Given the description of an element on the screen output the (x, y) to click on. 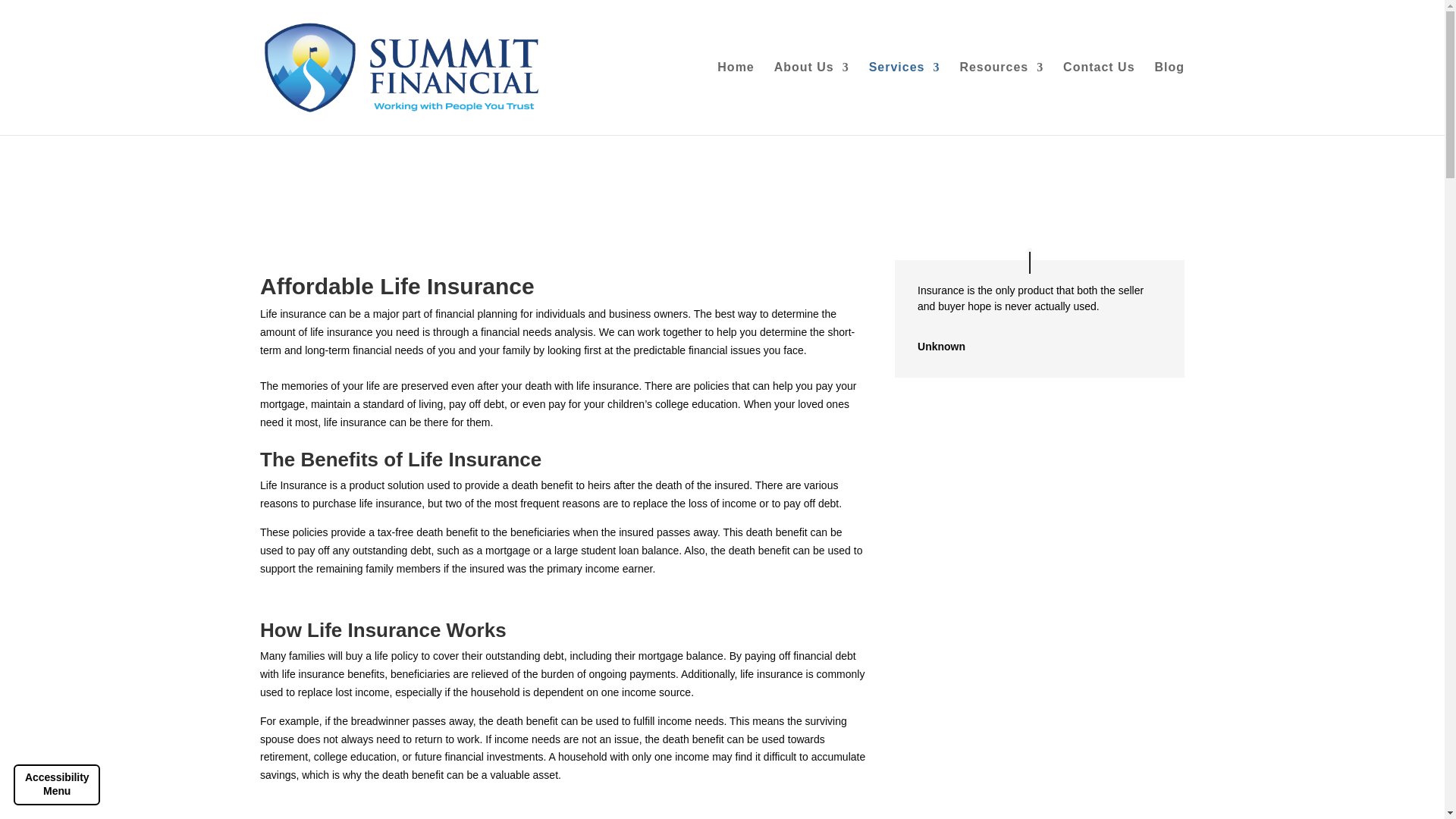
Resources (1001, 98)
About Us (811, 98)
Services (904, 98)
Accessibility Menu (56, 784)
Contact Us (1098, 98)
